Given the description of an element on the screen output the (x, y) to click on. 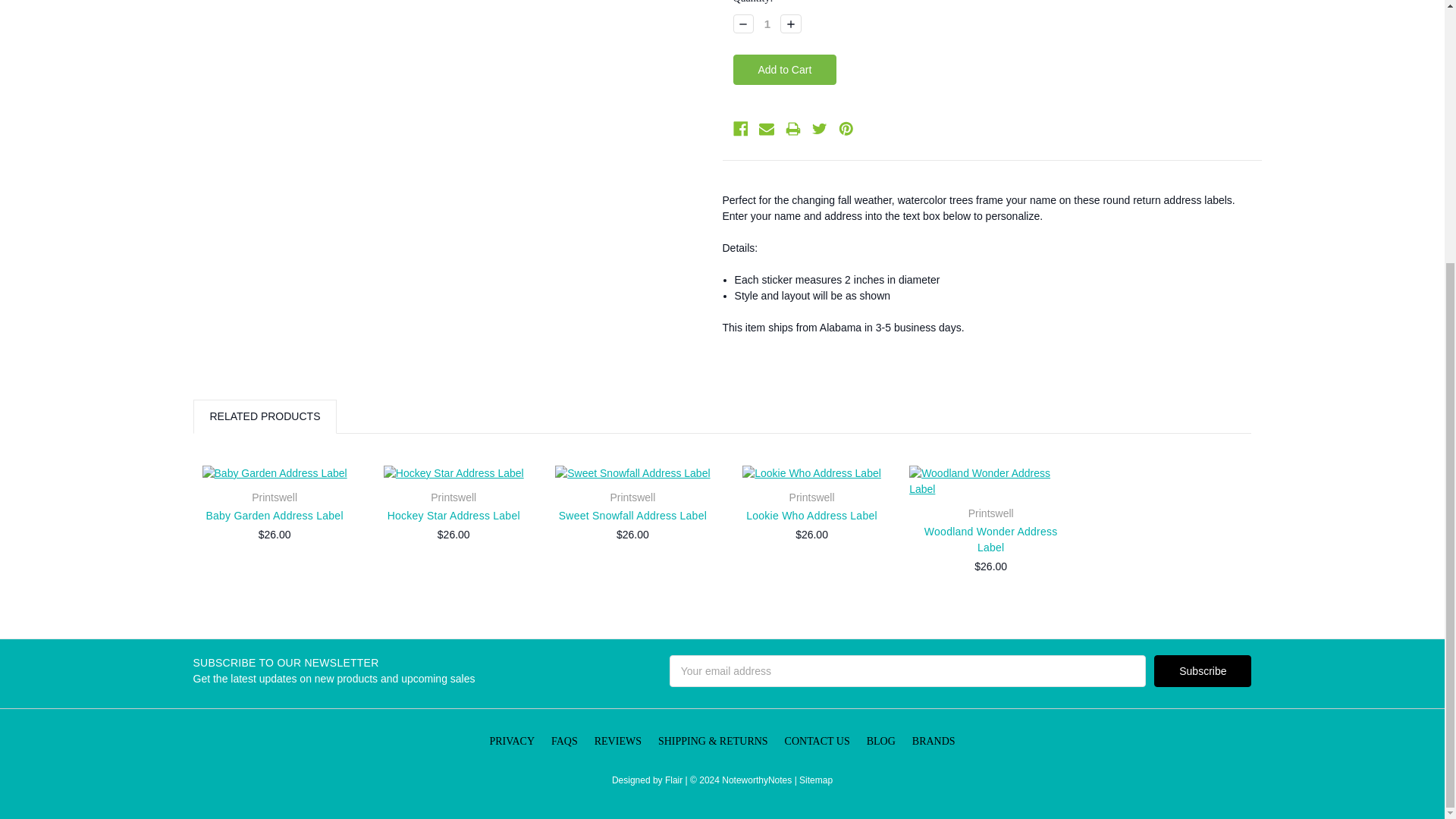
1 (767, 23)
Hockey Star Address Label (454, 473)
Woodland Wonder Address Label  (989, 481)
Subscribe (1202, 671)
Add to Cart (783, 69)
Lookie Who Address Label (811, 473)
Baby Garden Address Label (274, 473)
Baby Bird Fall Address Label  (452, 121)
Sweet Snowfall Address Label  (632, 473)
